Given the description of an element on the screen output the (x, y) to click on. 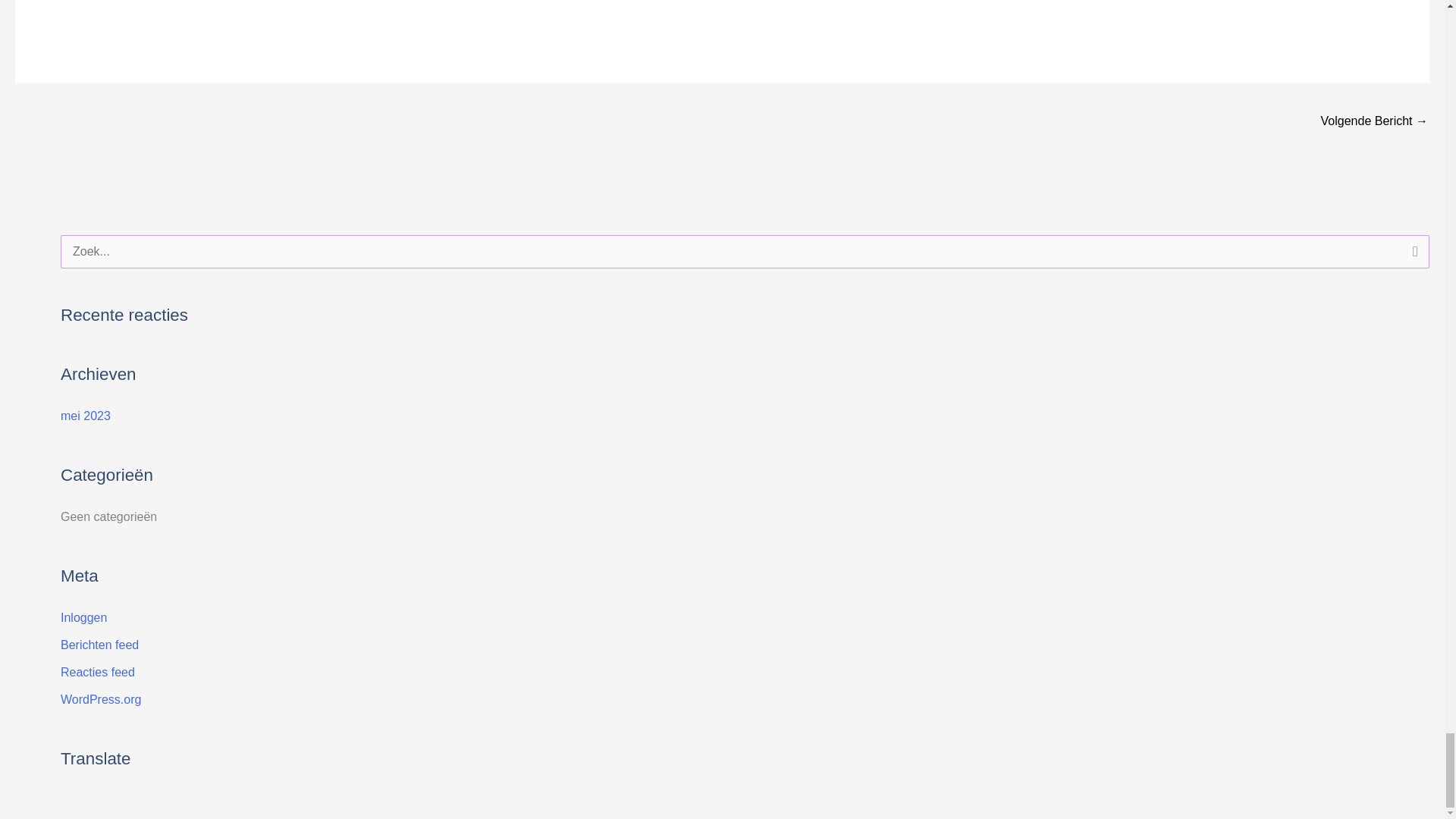
What Are The Best Bets In Up Pompay (1374, 122)
Berichten feed (99, 644)
Inloggen (83, 617)
WordPress.org (101, 698)
mei 2023 (85, 415)
Reacties feed (98, 671)
